Given the description of an element on the screen output the (x, y) to click on. 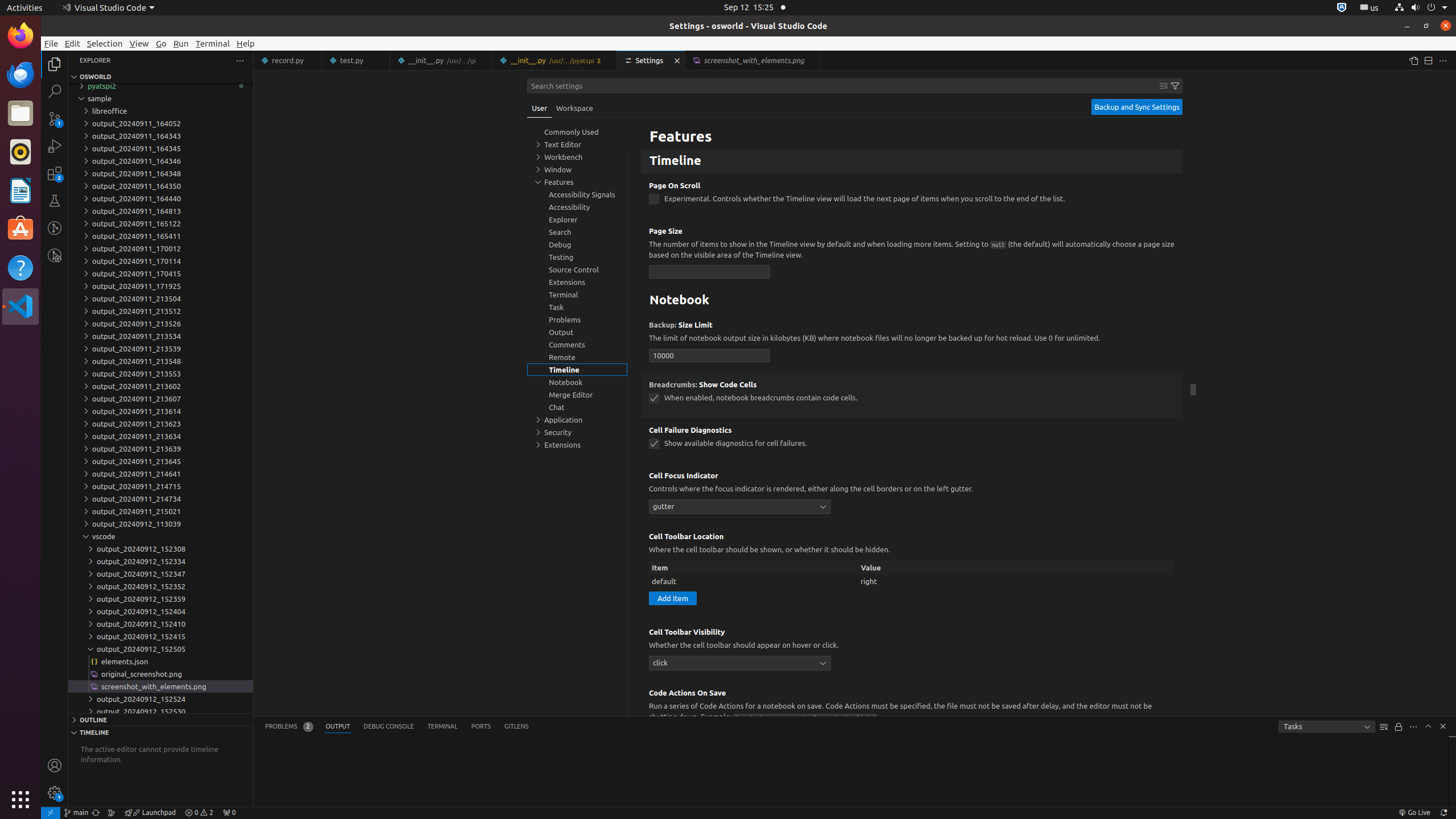
output_20240912_152505 Element type: tree-item (160, 648)
output_20240911_213539 Element type: tree-item (160, 348)
Workspace Element type: check-box (574, 107)
output_20240911_164813 Element type: tree-item (160, 210)
